Given the description of an element on the screen output the (x, y) to click on. 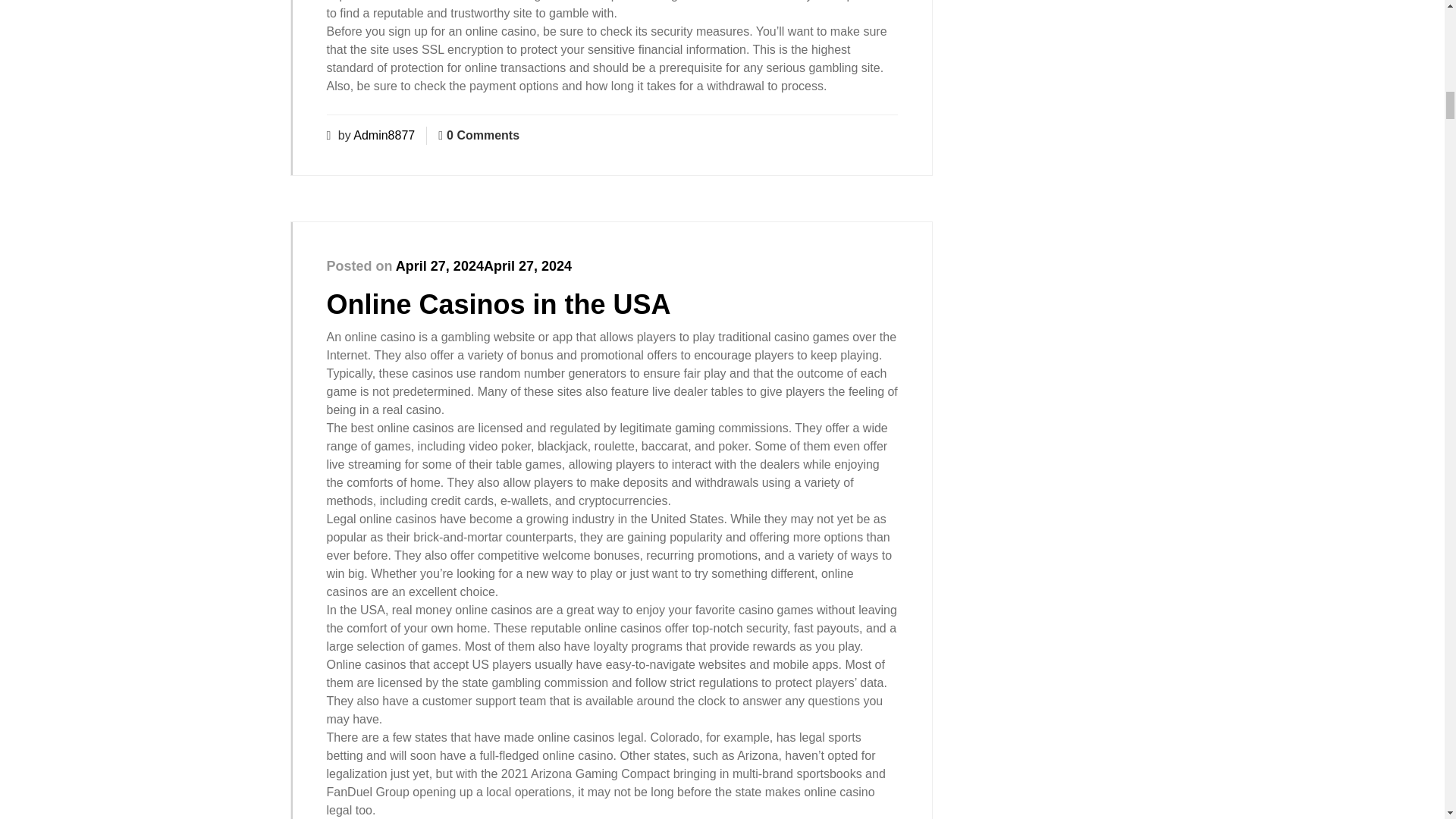
Admin8877 (383, 134)
Online Casinos in the USA (497, 304)
April 27, 2024April 27, 2024 (484, 265)
